Given the description of an element on the screen output the (x, y) to click on. 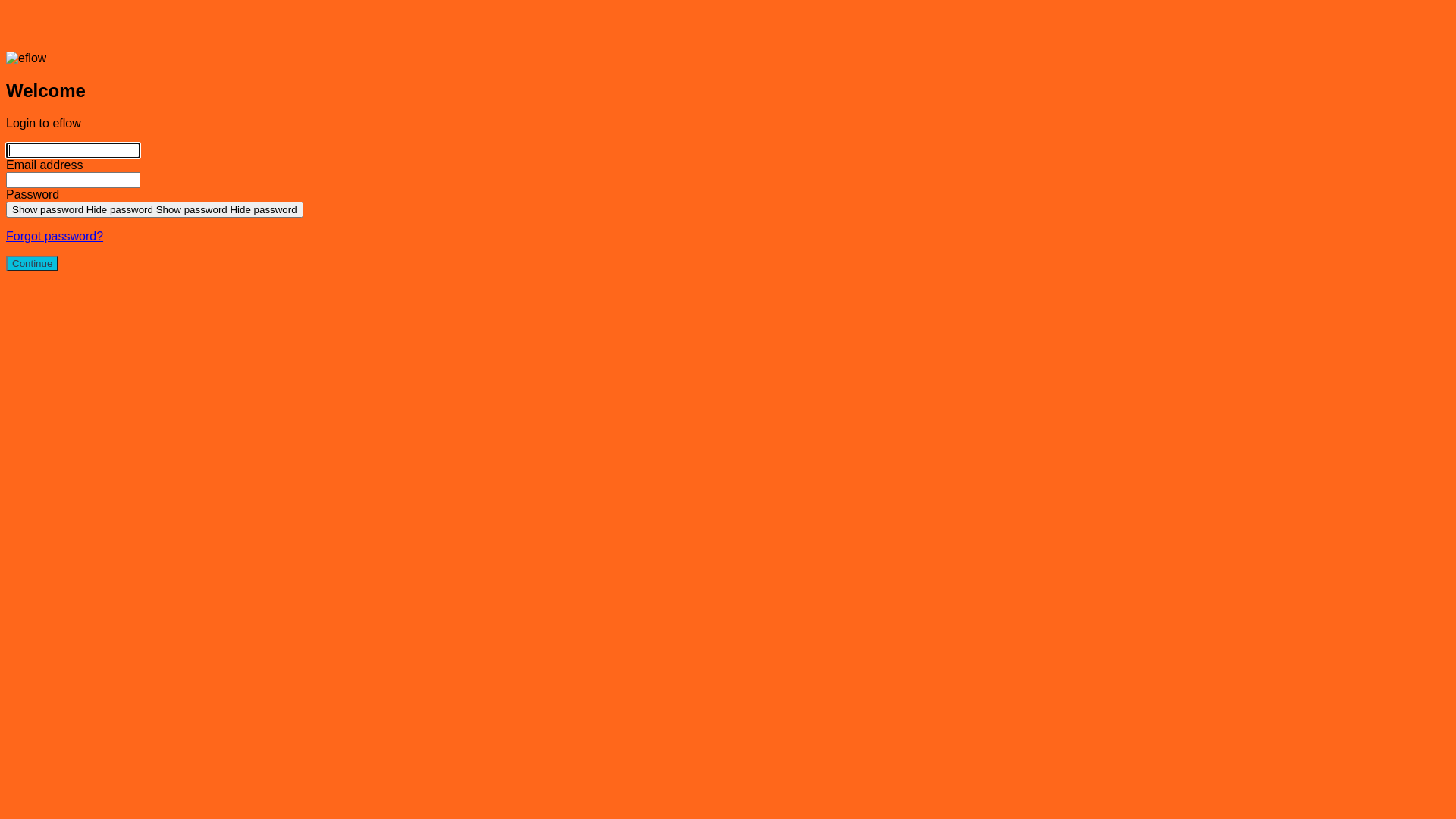
default Element type: text (32, 150)
eflow Element type: hover (727, 28)
Continue Element type: text (32, 263)
Show password Hide password Show password Hide password Element type: text (154, 209)
Forgot password? Element type: text (54, 235)
